Given the description of an element on the screen output the (x, y) to click on. 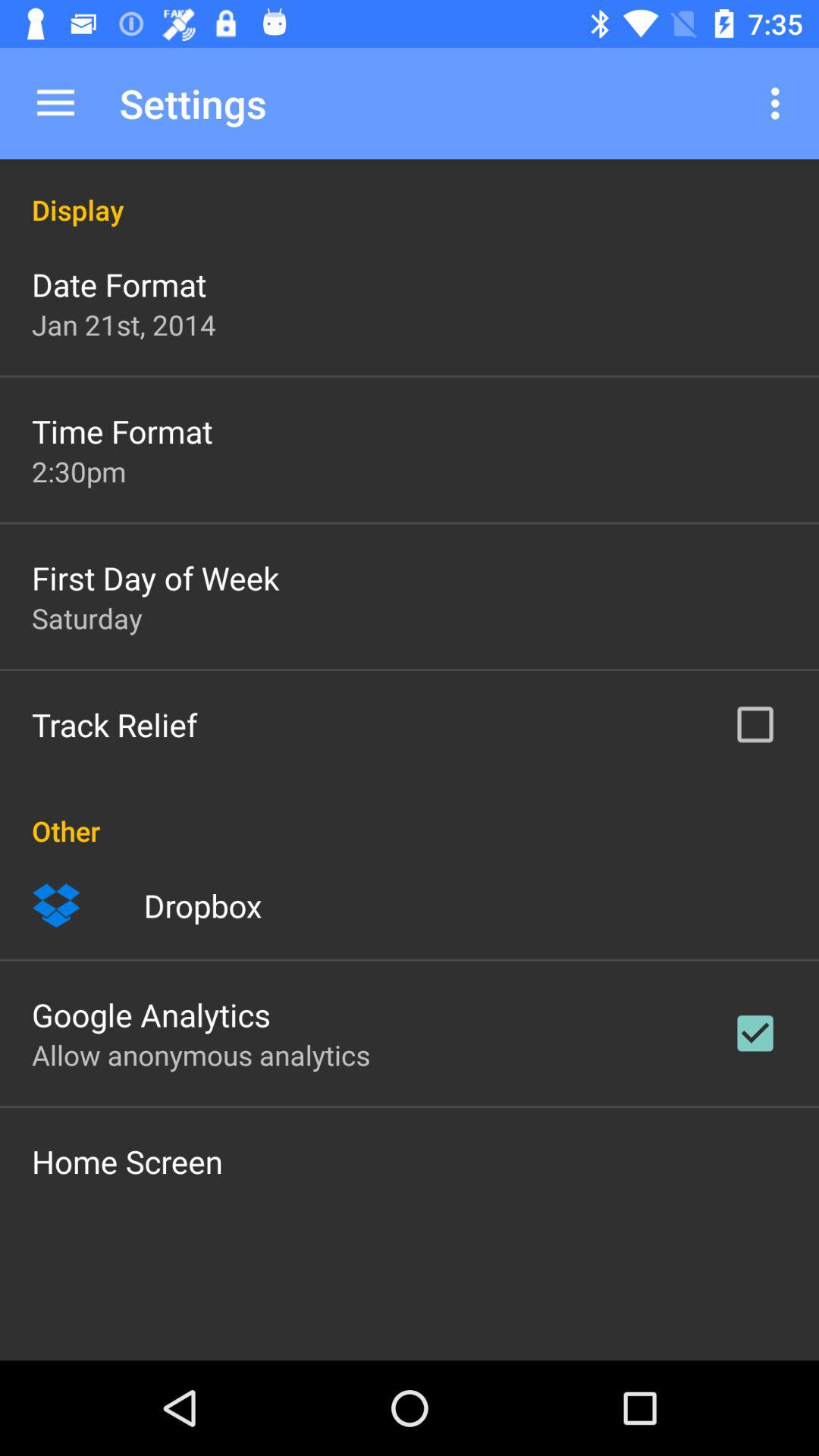
turn off jan 21st, 2014 icon (123, 324)
